Given the description of an element on the screen output the (x, y) to click on. 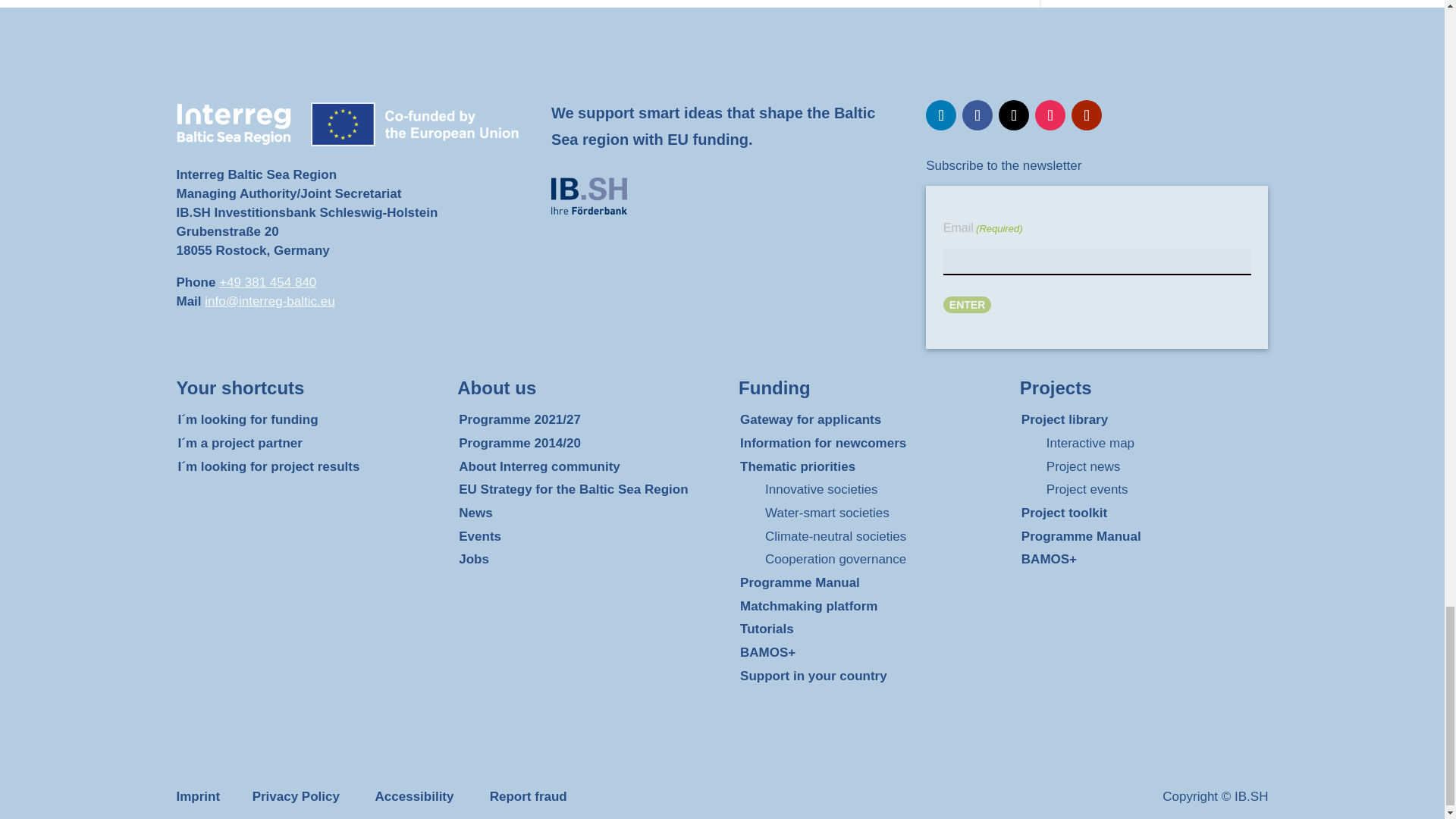
logo (589, 195)
Follow on LinkedIn (941, 114)
Follow on X (1013, 114)
Enter (967, 304)
Follow on Youtube (1086, 114)
Follow on Facebook (977, 114)
Follow on Instagram (1050, 114)
